Given the description of an element on the screen output the (x, y) to click on. 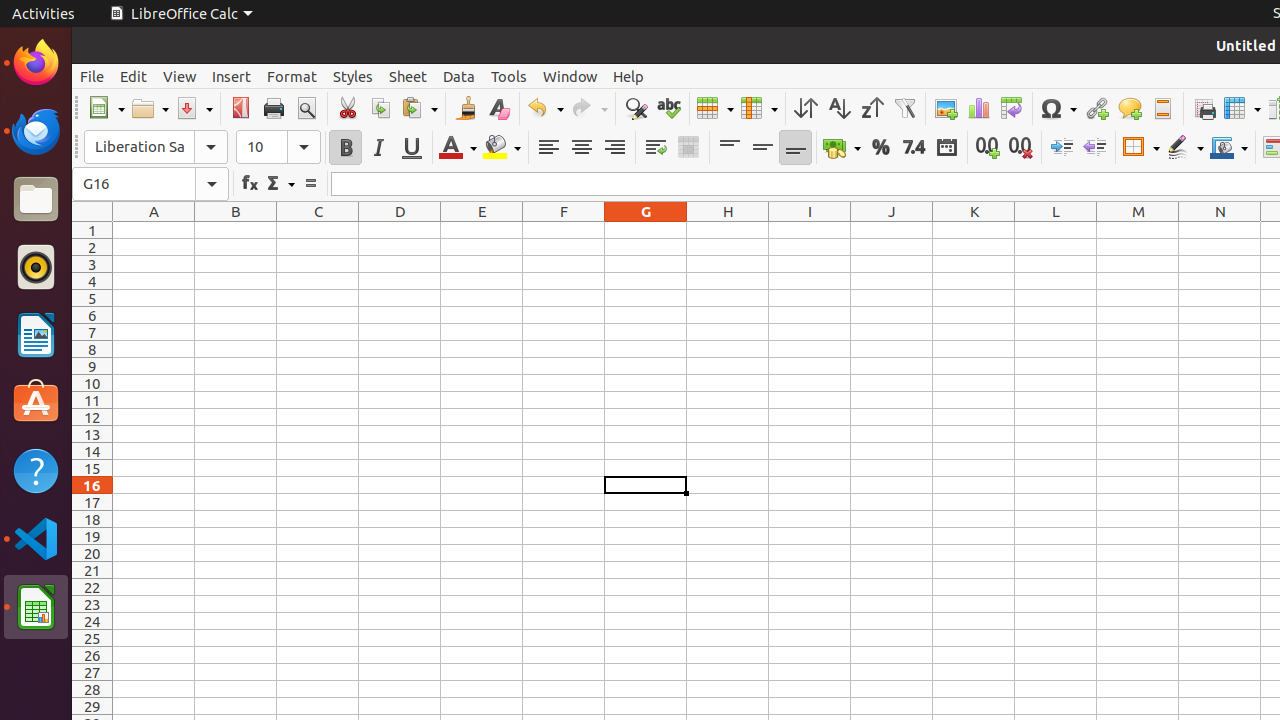
N1 Element type: table-cell (1220, 230)
Print Preview Element type: toggle-button (306, 108)
Redo Element type: push-button (589, 108)
Format Element type: menu (292, 76)
LibreOffice Calc Element type: menu (181, 13)
